Given the description of an element on the screen output the (x, y) to click on. 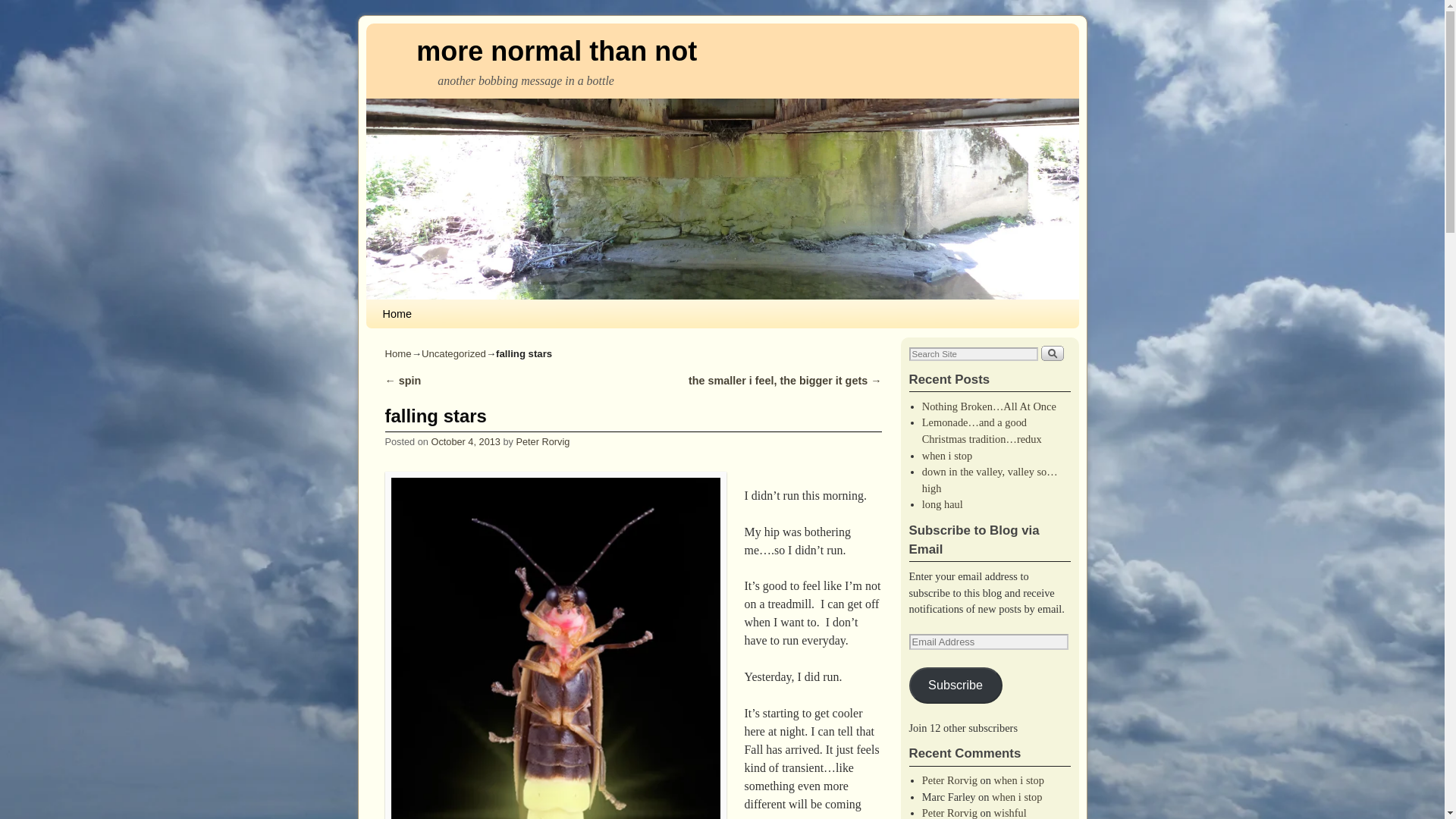
when i stop (1018, 779)
Home (398, 353)
6:46 am (464, 441)
long haul (941, 503)
Uncategorized (454, 353)
more normal than not (556, 51)
View all posts by Peter Rorvig (542, 441)
Skip to primary content (408, 305)
October 4, 2013 (464, 441)
Subscribe (954, 685)
wishful (1010, 812)
Peter Rorvig (948, 779)
Peter Rorvig (948, 812)
Peter Rorvig (542, 441)
when i stop (1016, 797)
